Given the description of an element on the screen output the (x, y) to click on. 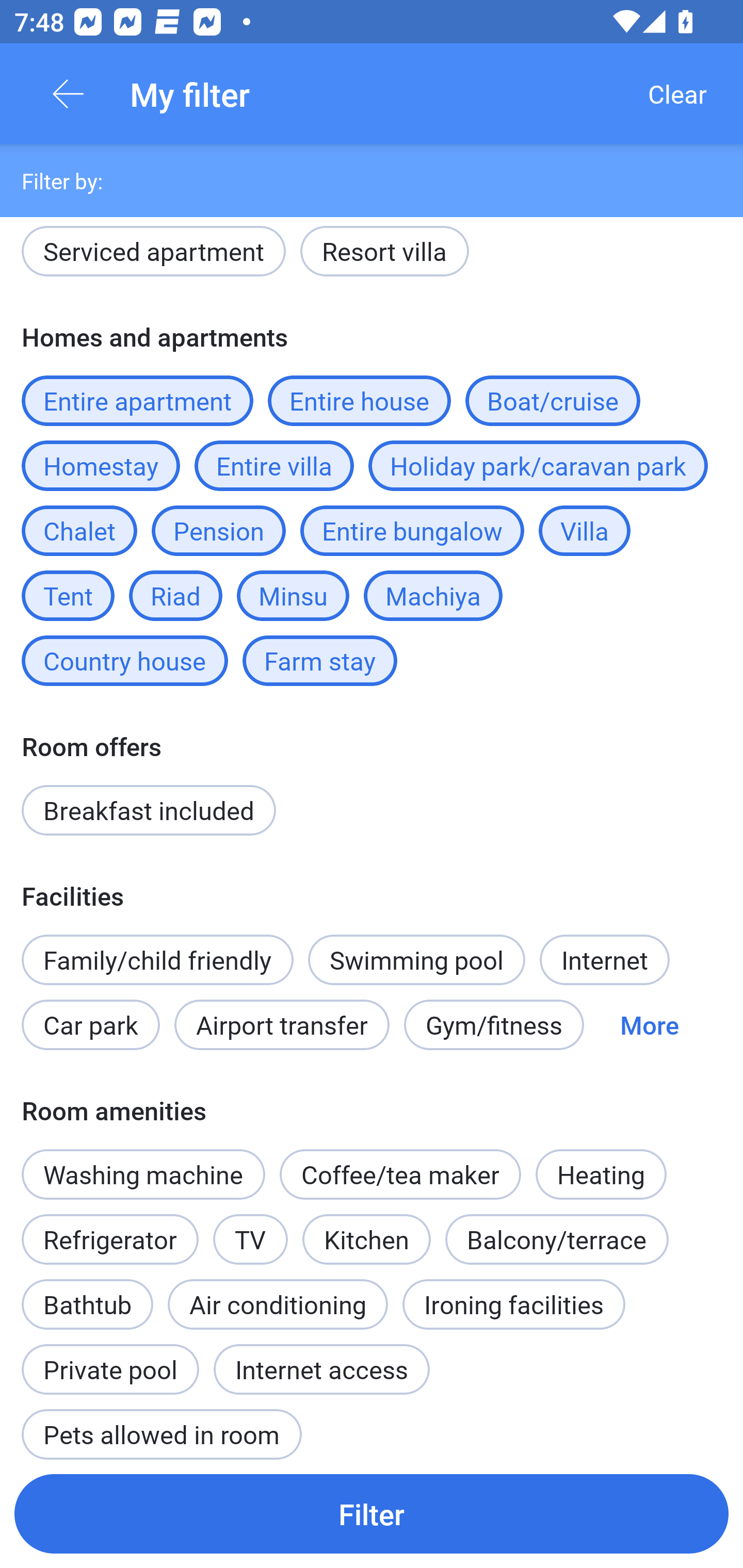
Clear (676, 93)
Serviced apartment (153, 255)
Resort villa (384, 255)
Breakfast included (148, 809)
Family/child friendly (157, 960)
Swimming pool (416, 960)
Internet (604, 960)
Car park (90, 1024)
Airport transfer (281, 1024)
Gym/fitness (493, 1024)
More (649, 1024)
Washing machine (143, 1174)
Coffee/tea maker (399, 1174)
Heating (600, 1163)
Refrigerator (109, 1239)
TV (250, 1228)
Kitchen (366, 1239)
Balcony/terrace (556, 1239)
Bathtub (87, 1293)
Air conditioning (277, 1304)
Ironing facilities (513, 1304)
Private pool (110, 1358)
Internet access (321, 1369)
Pets allowed in room (161, 1424)
Filter (371, 1513)
